Given the description of an element on the screen output the (x, y) to click on. 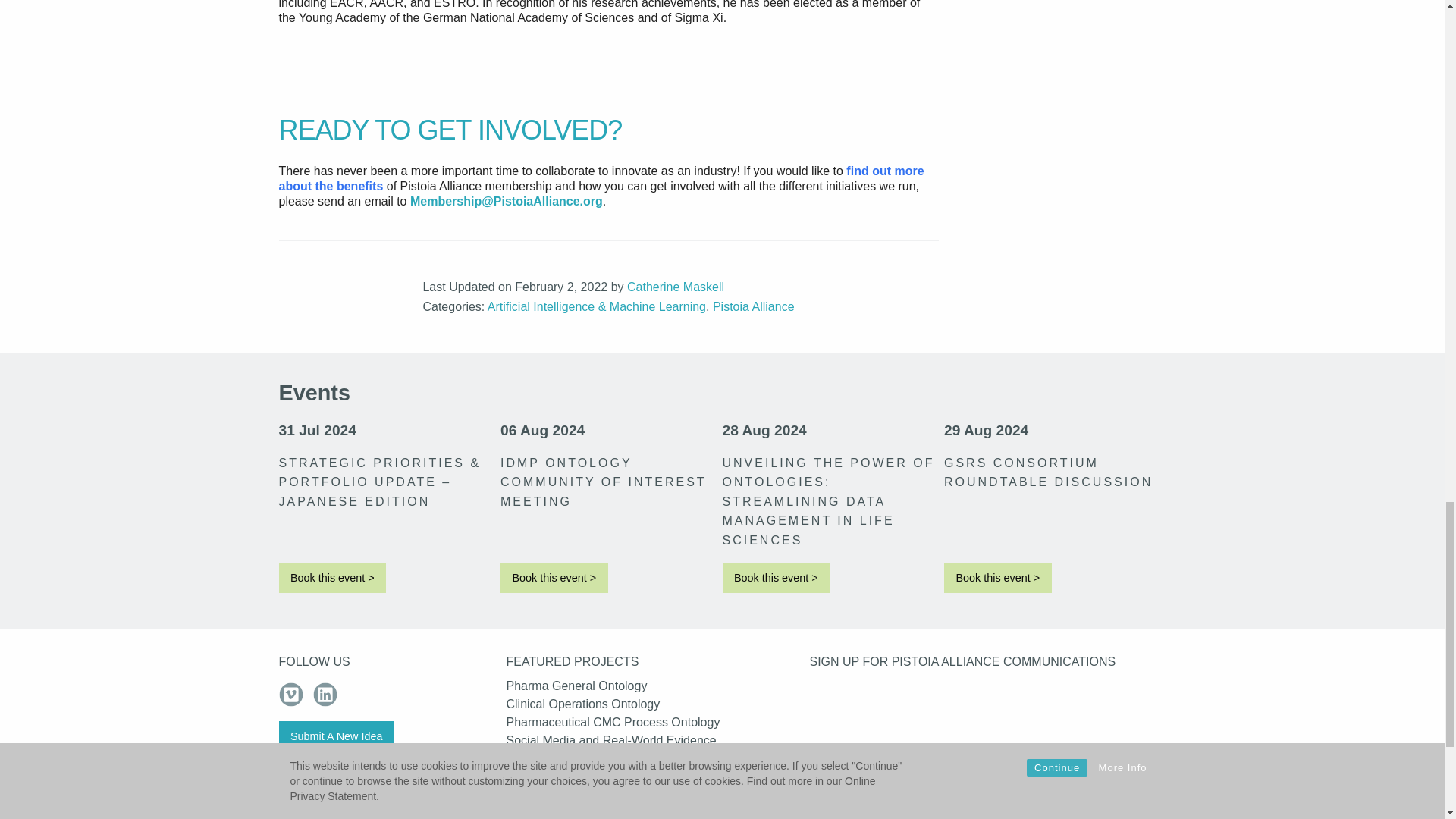
Posts by Catherine Maskell (675, 286)
Form 0 (987, 748)
View all posts in Pistoia Alliance (753, 306)
